Given the description of an element on the screen output the (x, y) to click on. 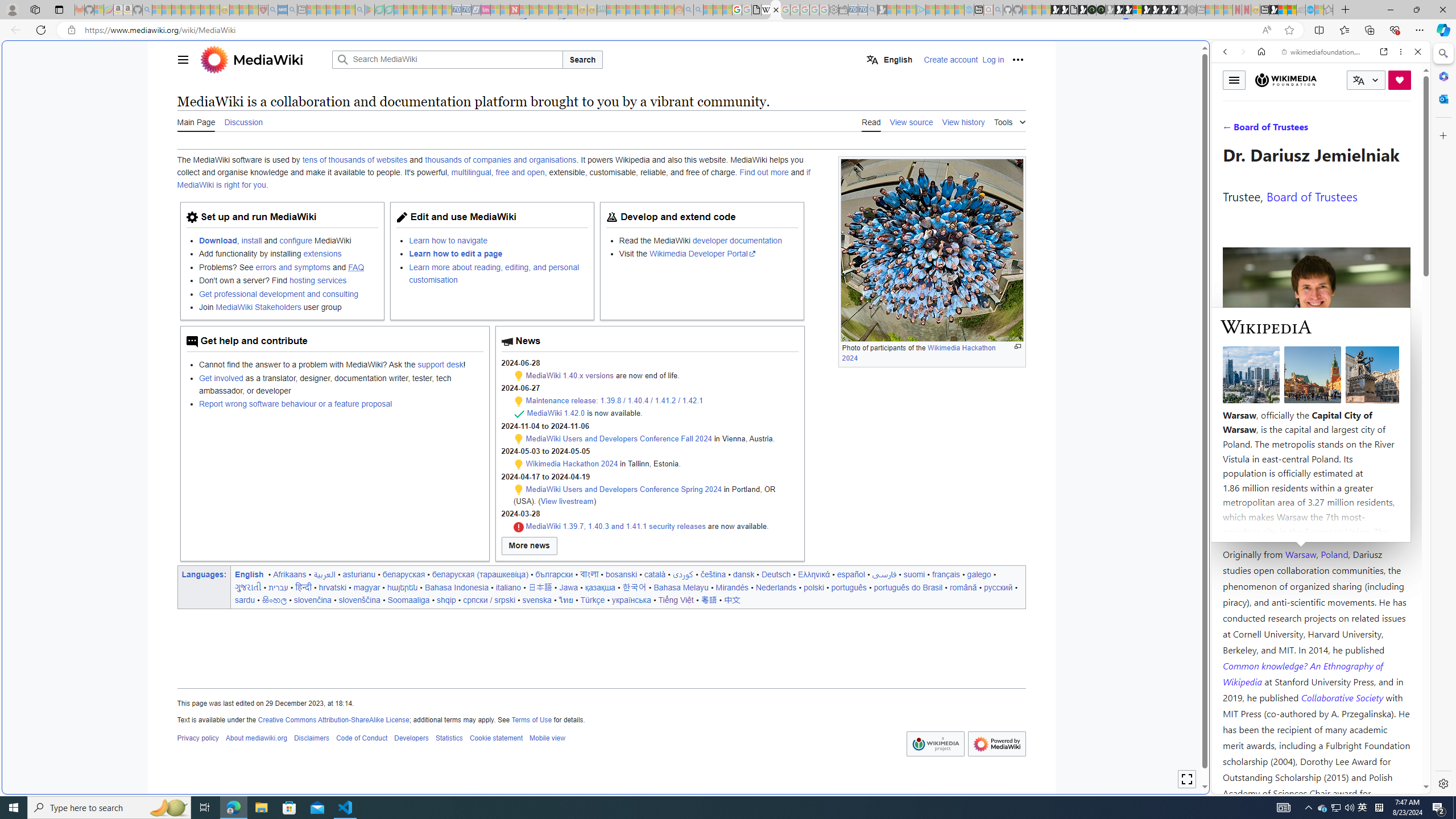
MediaWiki Users and Developers Conference Spring 2024 (623, 488)
More news (528, 545)
Find out more (764, 172)
